Given the description of an element on the screen output the (x, y) to click on. 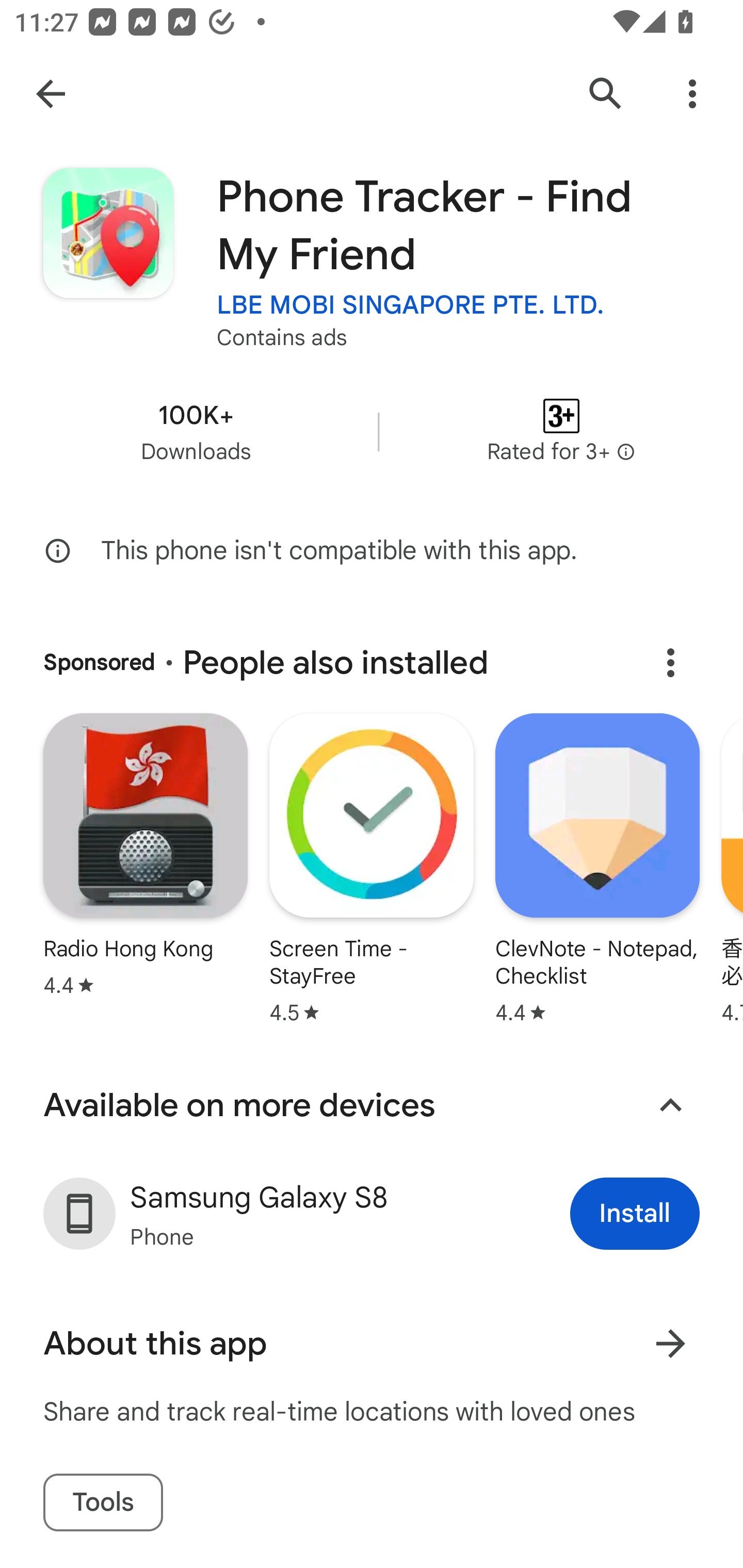
Navigate up (50, 93)
Search Google Play (605, 93)
More Options (692, 93)
LBE MOBI SINGAPORE PTE. LTD. (410, 304)
Content rating Rated for 3+ (561, 431)
About this ad (670, 662)
Radio Hong Kong
Star rating: 4.4
 (145, 857)
Screen Time - StayFree
Star rating: 4.5
 (371, 870)
ClevNote - Notepad, Checklist
Star rating: 4.4
 (597, 870)
Available on more devices Collapse (371, 1105)
Collapse (670, 1105)
Install (634, 1213)
About this app Learn more About this app (371, 1343)
Learn more About this app (670, 1343)
Tools tag (102, 1502)
